Given the description of an element on the screen output the (x, y) to click on. 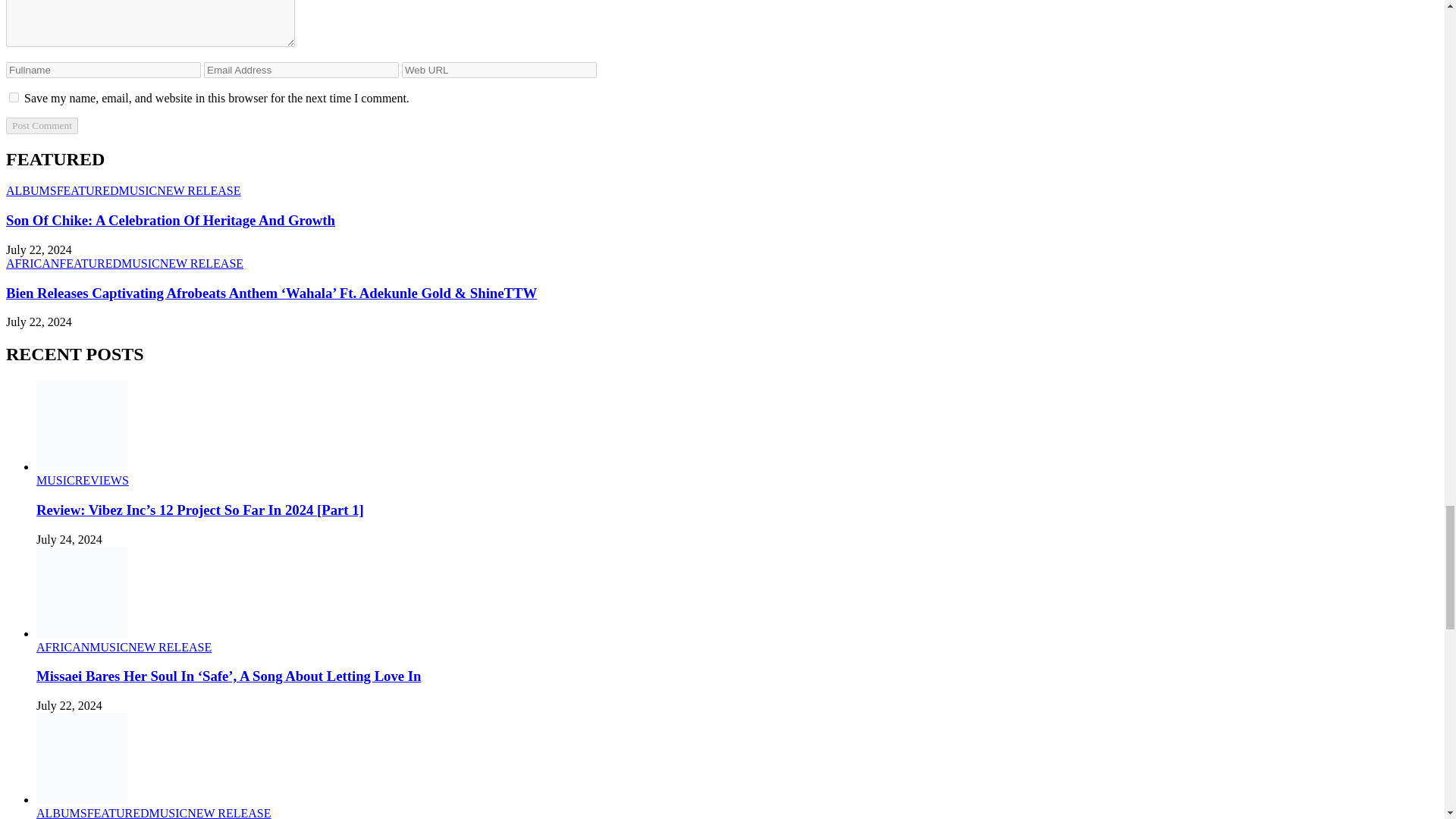
yes (13, 97)
Post Comment (41, 125)
